Given the description of an element on the screen output the (x, y) to click on. 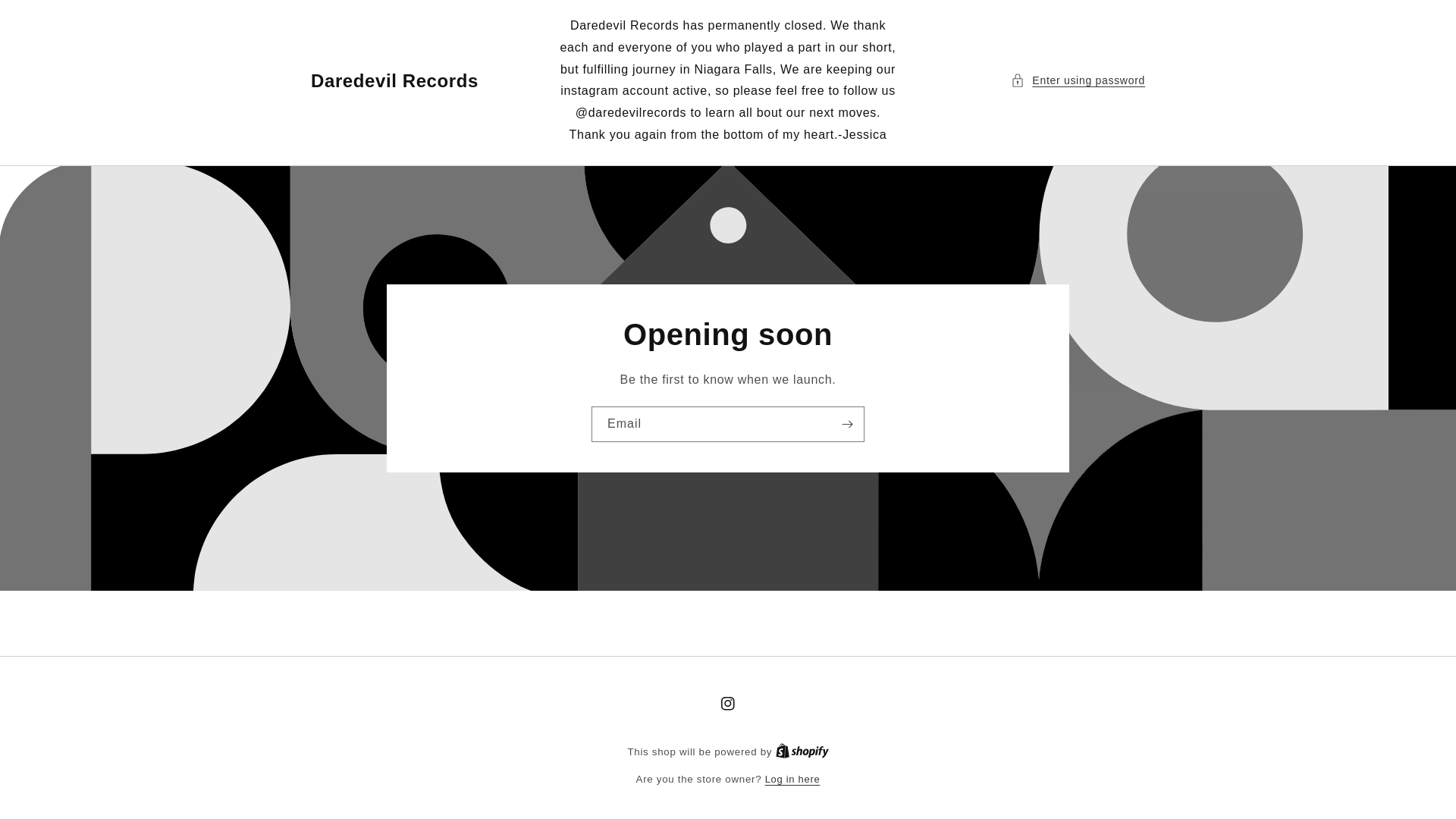
Log in here (793, 779)
Skip to content (45, 17)
Instagram (727, 703)
